Given the description of an element on the screen output the (x, y) to click on. 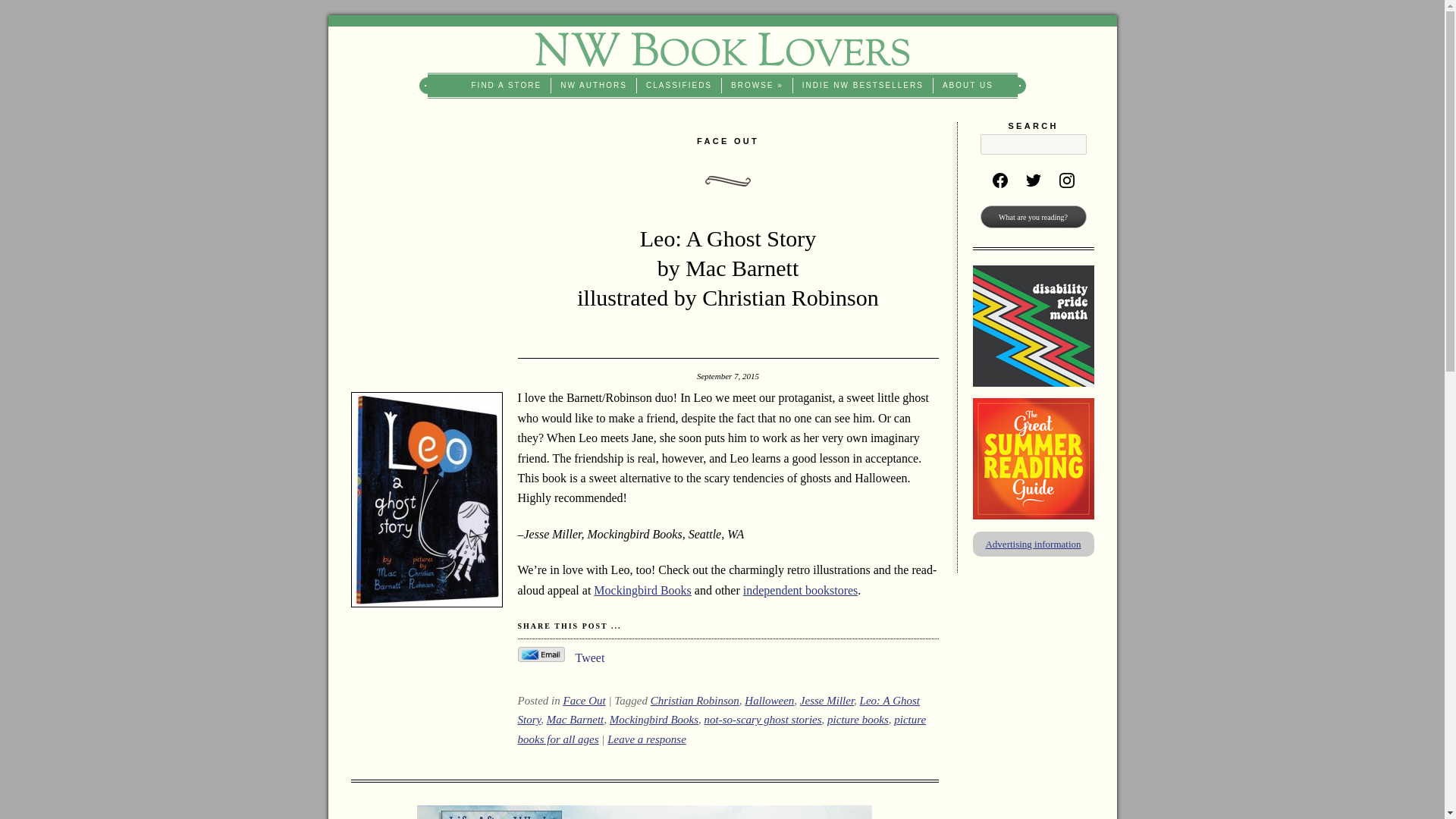
Mockingbird Books (654, 719)
NW Book Lovers (721, 49)
independent bookstores (800, 590)
Halloween (768, 700)
Mac Barnett (575, 719)
ABOUT US (968, 85)
picture books (857, 719)
Mockingbird Books (642, 590)
Christian Robinson (694, 700)
INDIE NW BESTSELLERS (863, 85)
Face Out (583, 700)
picture books for all ages (721, 729)
NW AUTHORS (593, 85)
Leave a response (646, 739)
not-so-scary ghost stories (763, 719)
